Given the description of an element on the screen output the (x, y) to click on. 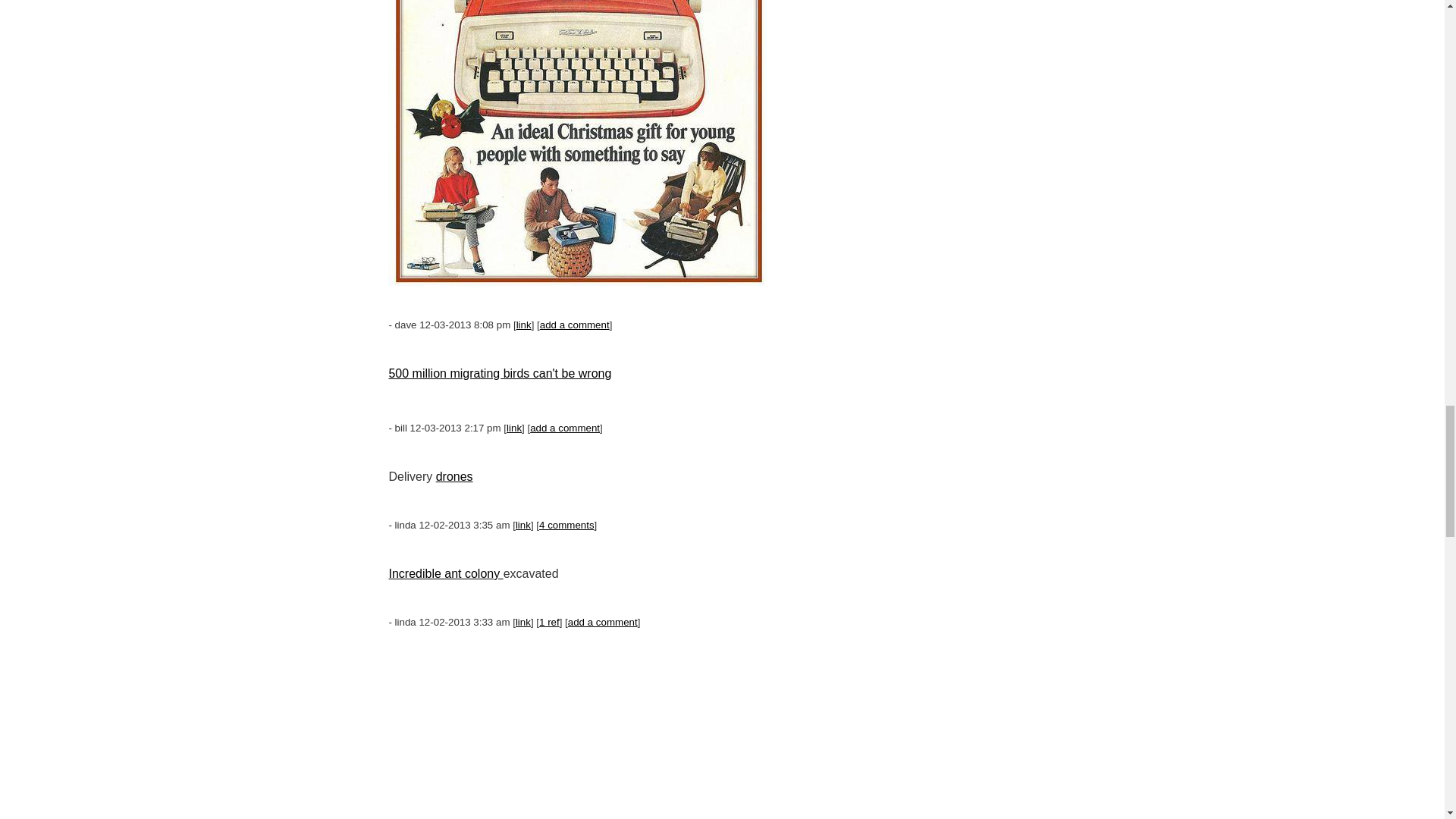
link (513, 428)
add a comment (564, 428)
500 million migrating birds can't be wrong (499, 373)
link (523, 324)
link (523, 524)
drones (454, 476)
add a comment (575, 324)
